Given the description of an element on the screen output the (x, y) to click on. 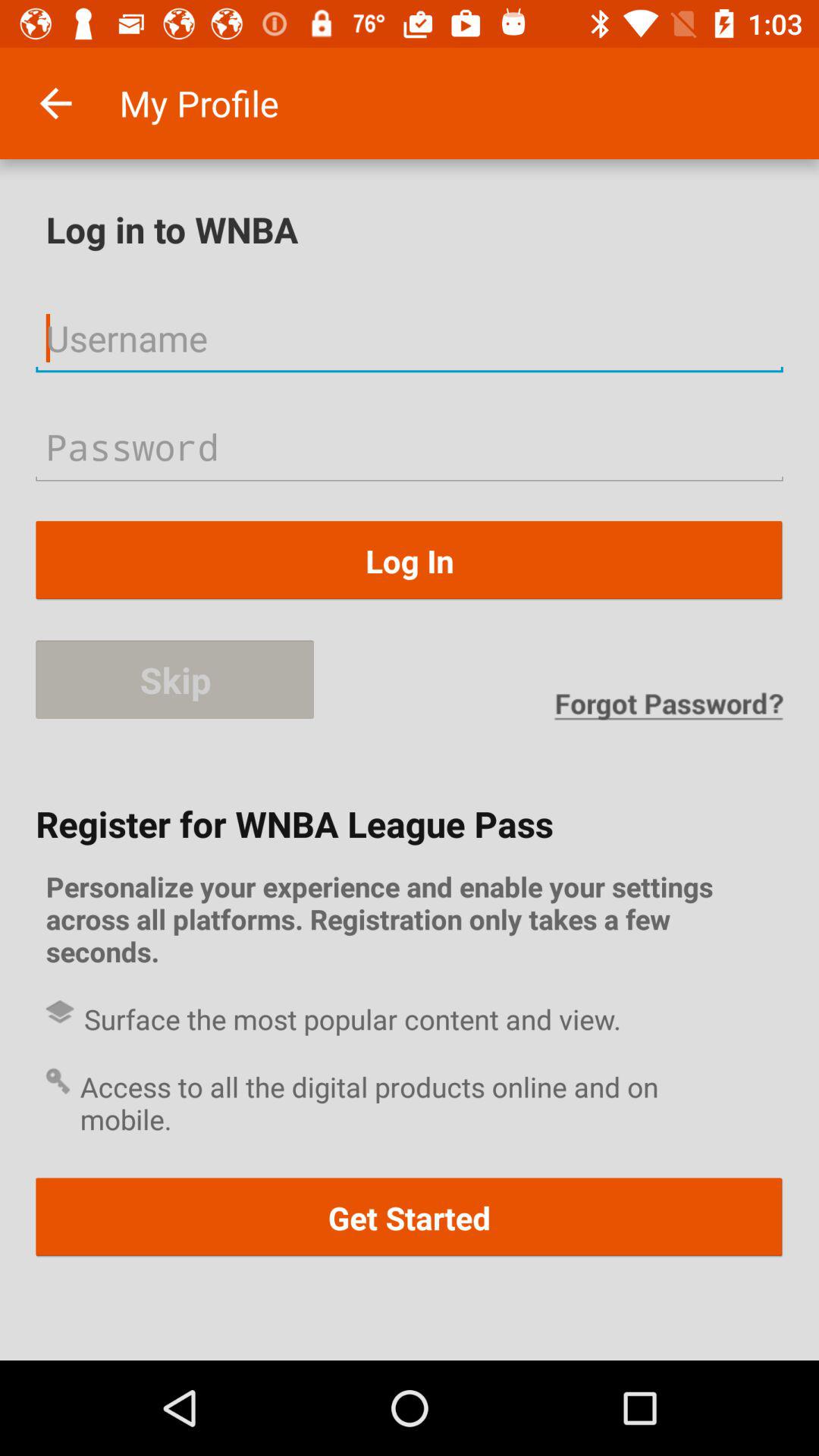
open the icon on the right (668, 706)
